Given the description of an element on the screen output the (x, y) to click on. 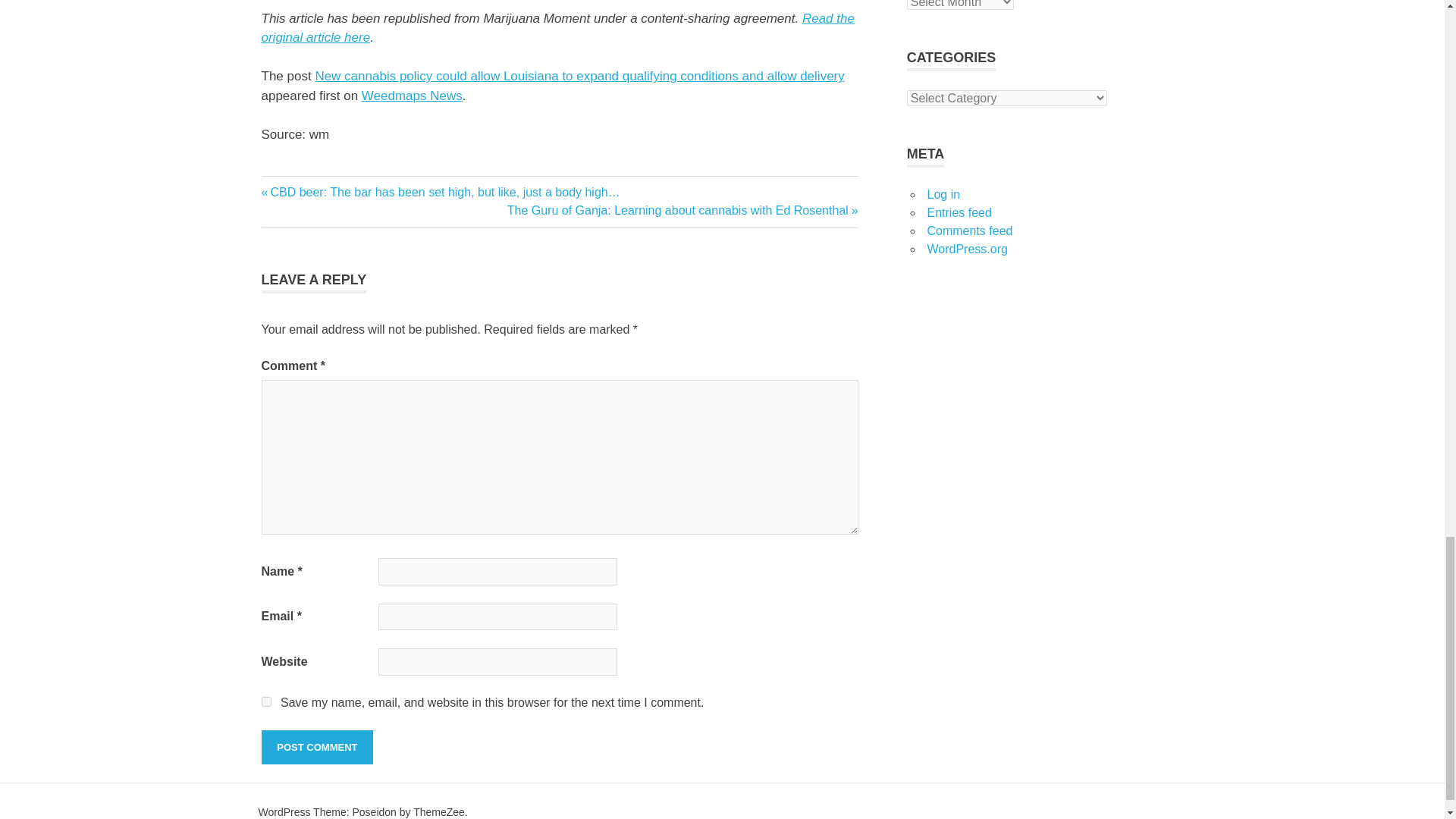
yes (265, 701)
Post Comment (316, 747)
Post Comment (316, 747)
Read the original article here (556, 28)
Weedmaps News (412, 95)
